Given the description of an element on the screen output the (x, y) to click on. 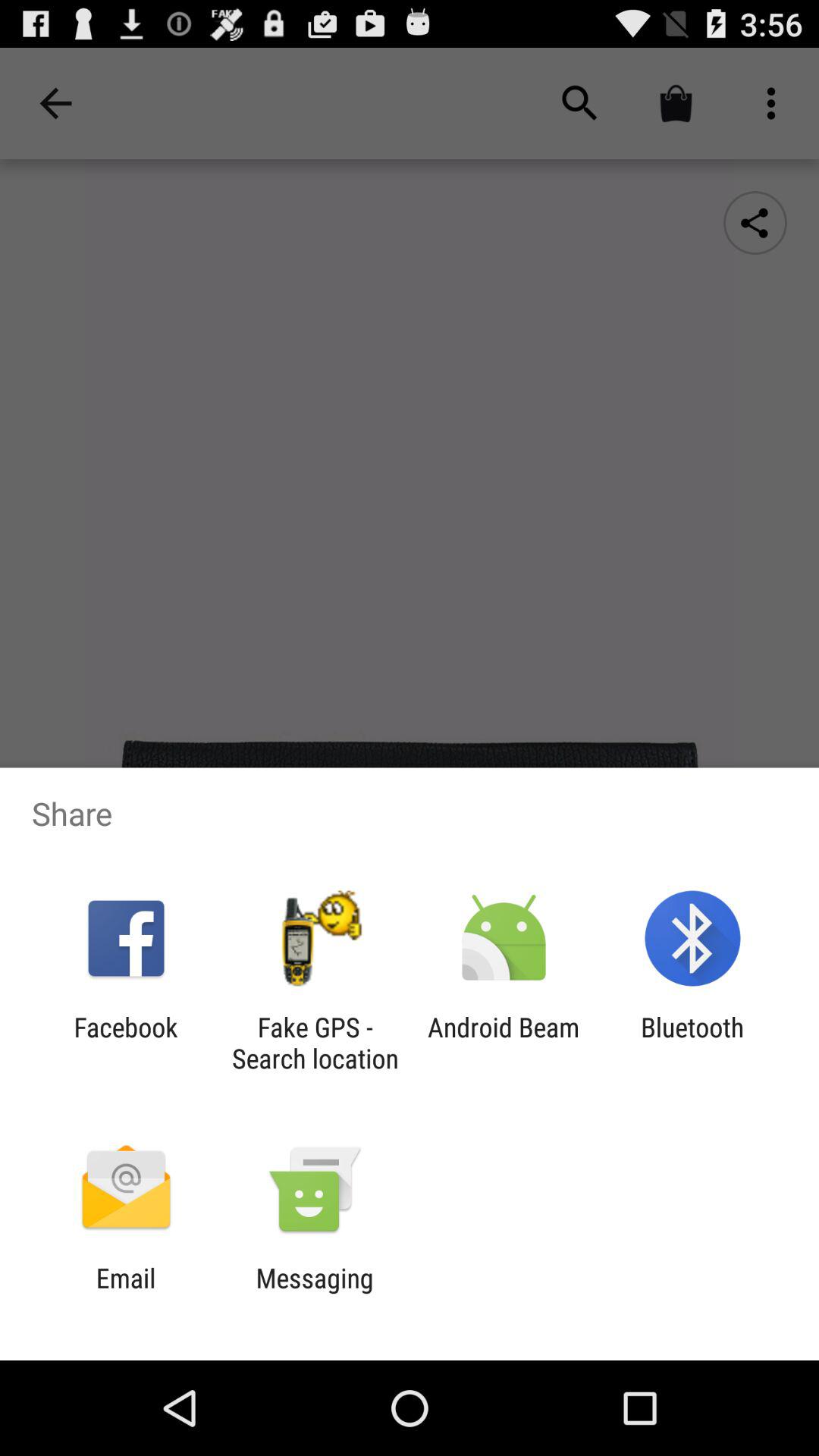
select the icon next to the messaging item (125, 1293)
